Given the description of an element on the screen output the (x, y) to click on. 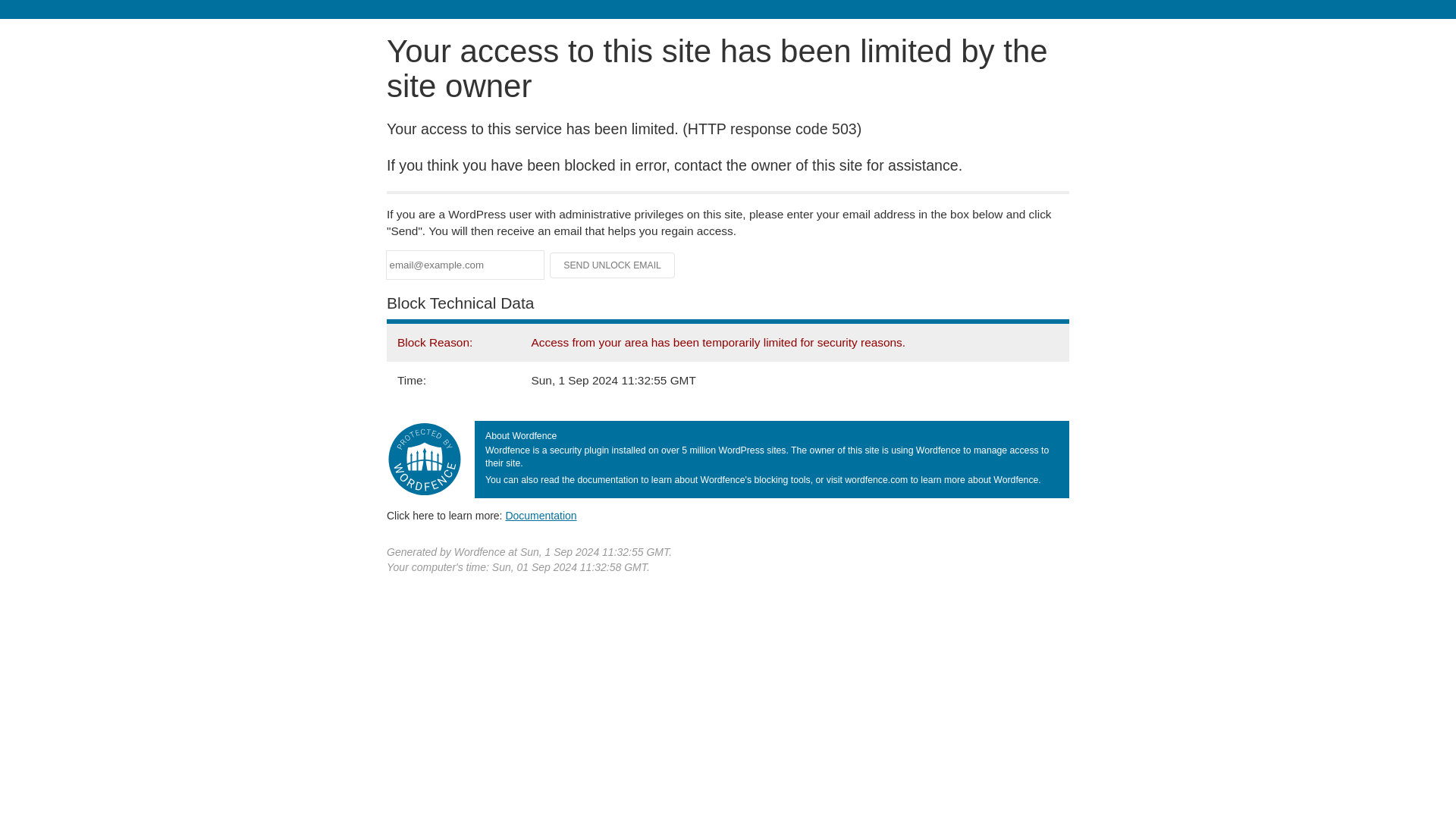
Send Unlock Email (612, 265)
Send Unlock Email (612, 265)
Documentation (540, 515)
